Given the description of an element on the screen output the (x, y) to click on. 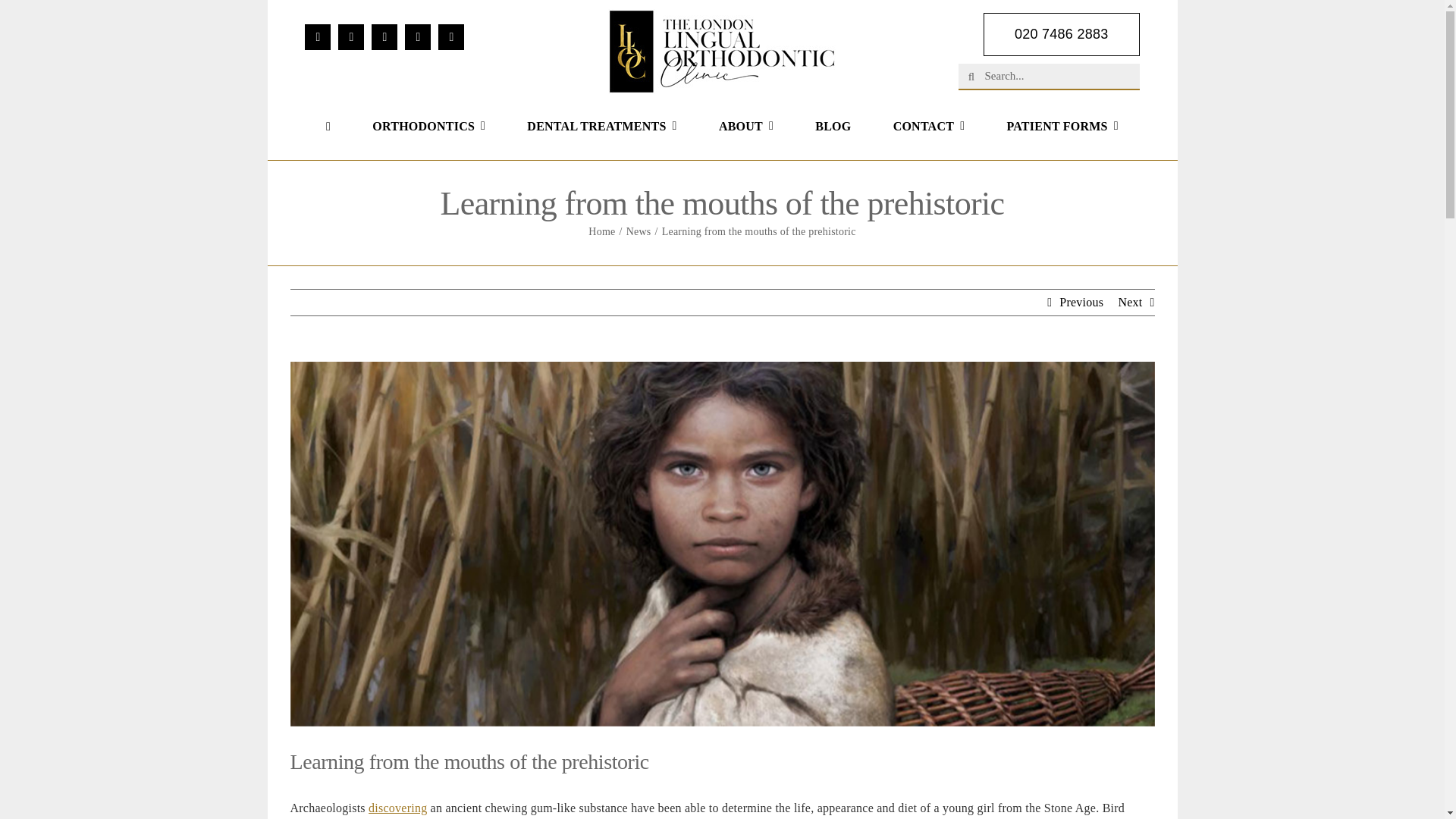
Instagram (384, 36)
020 7486 2883 (1062, 34)
LinkedIn (451, 36)
X (350, 36)
YouTube (417, 36)
ORTHODONTICS (428, 127)
BLOG (832, 127)
ABOUT (746, 127)
Facebook (317, 36)
